Given the description of an element on the screen output the (x, y) to click on. 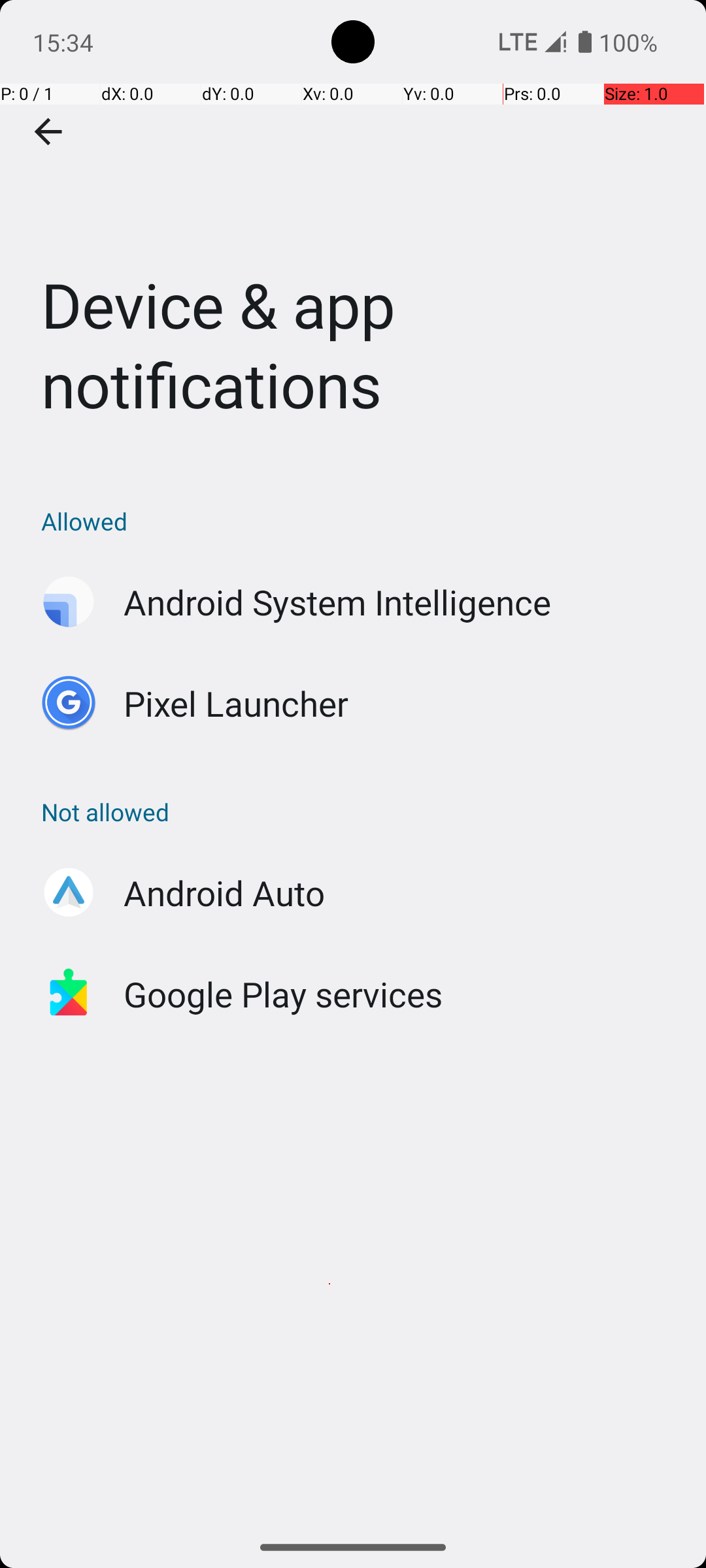
Allowed Element type: android.widget.TextView (359, 520)
Android System Intelligence Element type: android.widget.TextView (337, 601)
Pixel Launcher Element type: android.widget.TextView (236, 703)
Not allowed Element type: android.widget.TextView (359, 811)
Google Play services Element type: android.widget.TextView (283, 993)
